Given the description of an element on the screen output the (x, y) to click on. 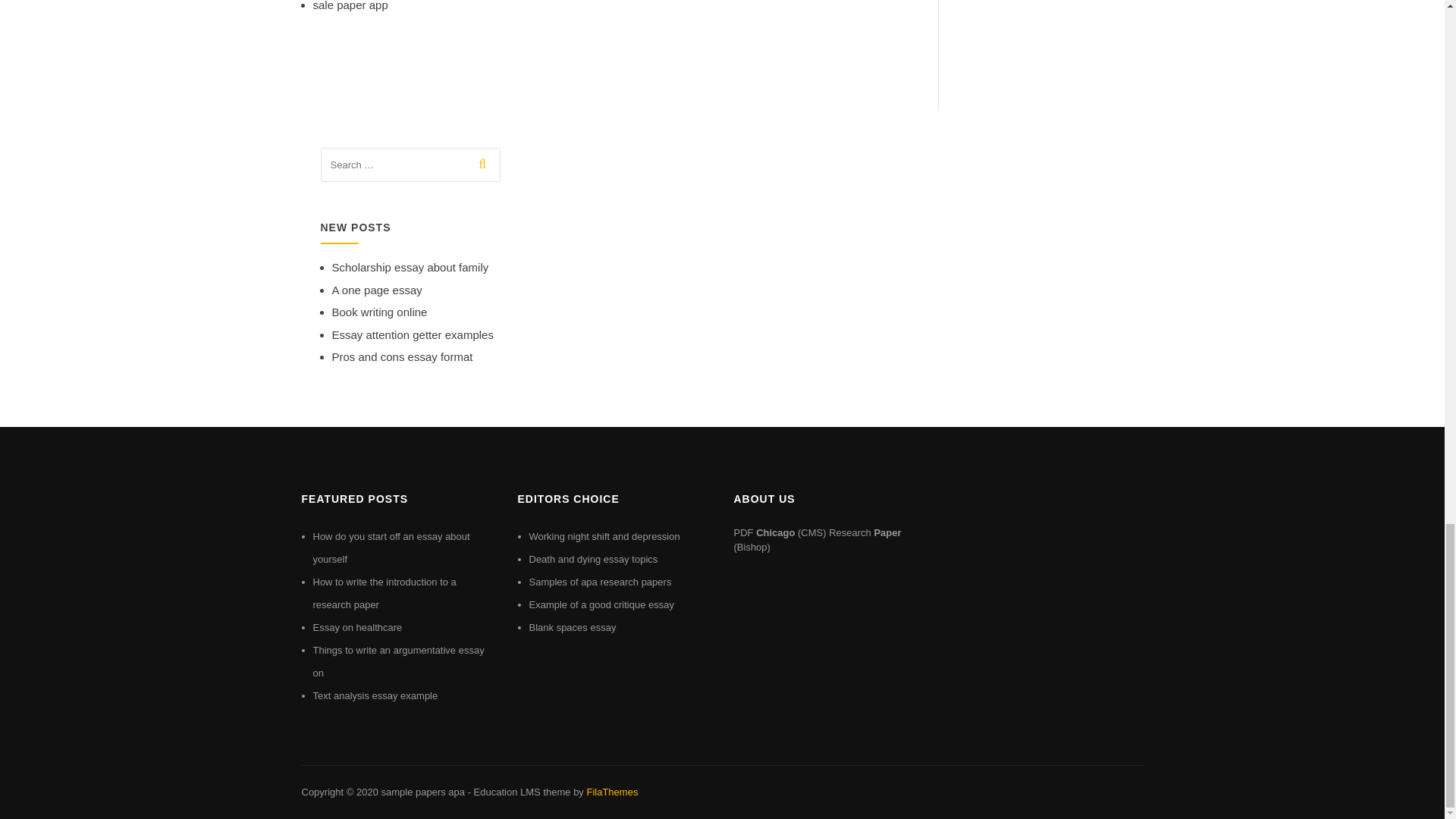
Essay attention getter examples (412, 334)
Pros and cons essay format (402, 356)
How do you start off an essay about yourself (390, 547)
Text analysis essay example (375, 695)
How to write the introduction to a research paper (384, 593)
A one page essay (376, 289)
Book writing online (379, 311)
Example of a good critique essay (602, 604)
Working night shift and depression (604, 536)
Blank spaces essay (572, 627)
sale paper app (350, 5)
Samples of apa research papers (600, 582)
Death and dying essay topics (593, 559)
sample papers apa (422, 791)
Essay on healthcare (357, 627)
